Given the description of an element on the screen output the (x, y) to click on. 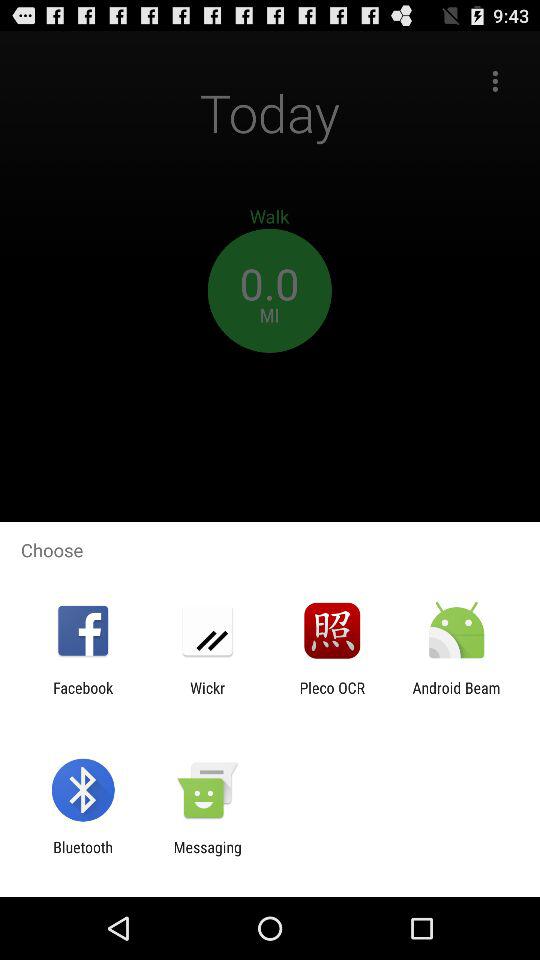
turn on icon to the left of pleco ocr item (207, 696)
